Given the description of an element on the screen output the (x, y) to click on. 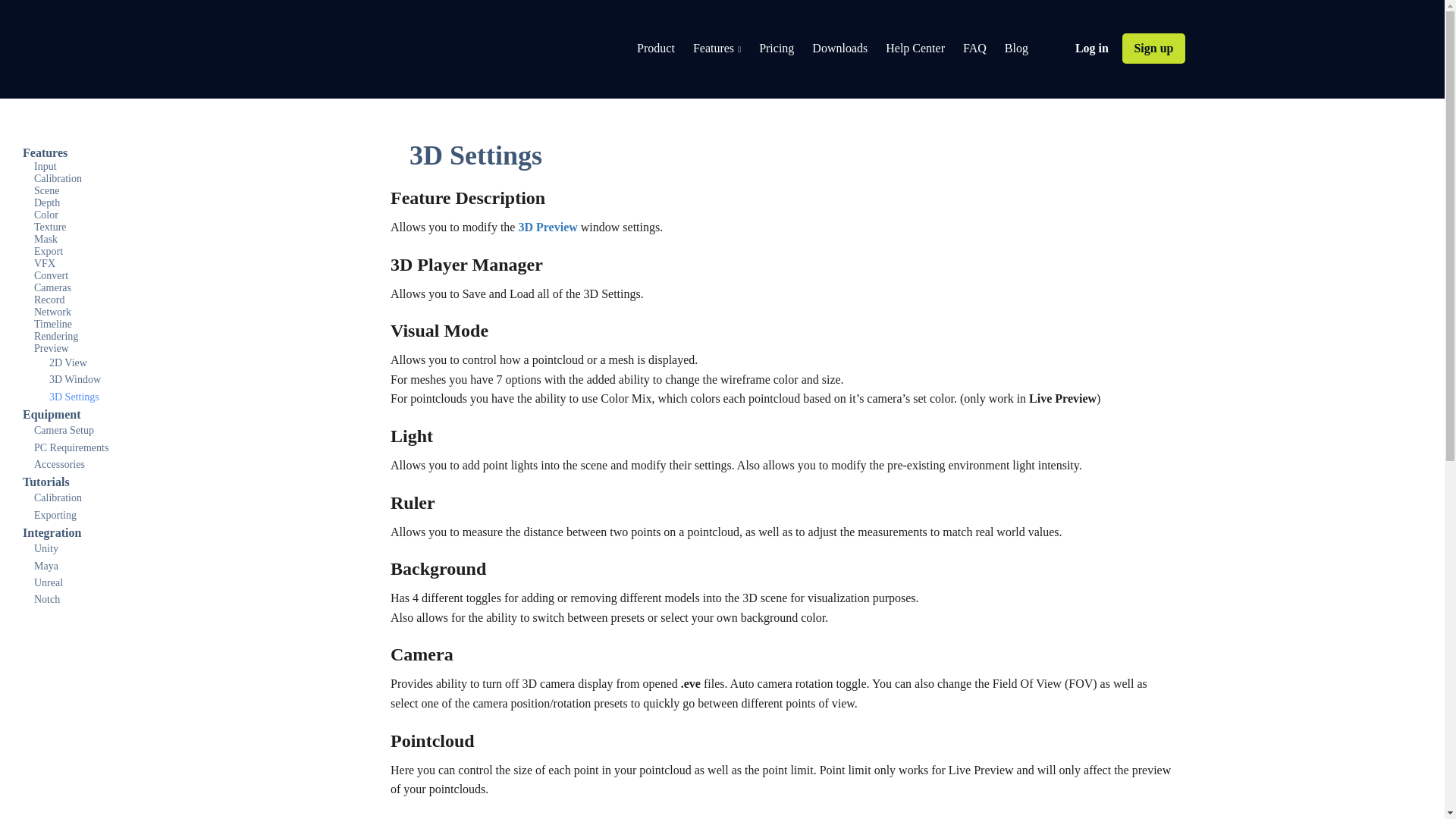
Features (717, 49)
Pricing (775, 49)
Features (717, 49)
Log in (1091, 47)
Product (656, 49)
Product (656, 49)
Downloads (839, 49)
FAQ (974, 49)
Help Center (914, 49)
Blog (1015, 49)
Input (44, 166)
Sign up (1153, 48)
